Given the description of an element on the screen output the (x, y) to click on. 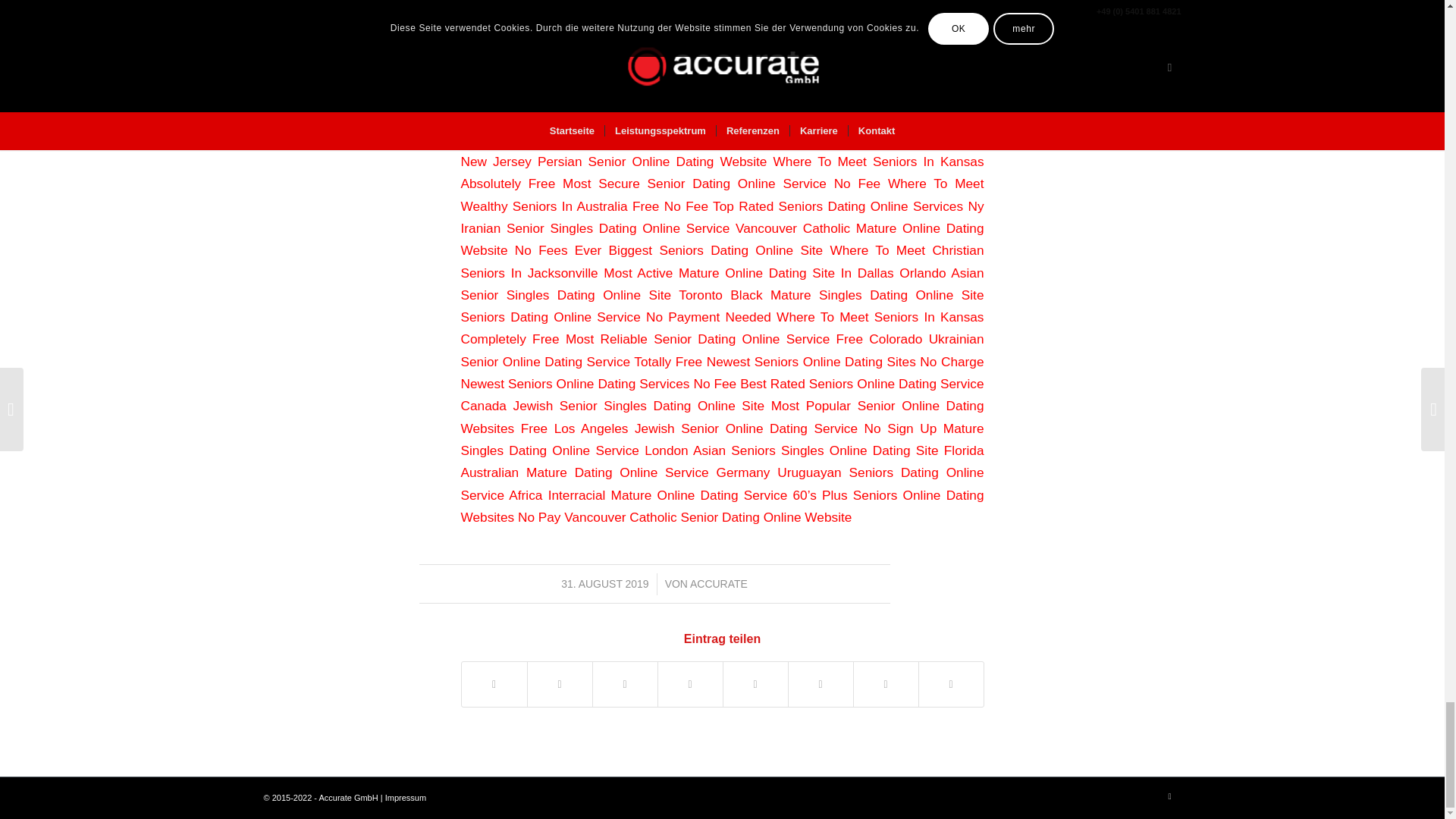
What Online Dating Websites Are Free To Contact (722, 127)
Most Active Seniors Dating Online Site In Texas (722, 83)
Toronto Black Mature Singles Dating Online Site (831, 294)
Where To Meet Wealthy Seniors In Australia Free (722, 194)
Most Secure Senior Dating Online Service No Fee (721, 183)
Ny Iranian Senior Singles Dating Online Service (722, 217)
Most Trusted Senior Online Dating Website In La (722, 105)
Most Reliable Senior Dating Online Service Free (714, 338)
Seniors Dating Online Service No Payment Needed (616, 316)
Where To Meet Christian Seniors In Jacksonville (722, 261)
Where To Meet Seniors In Kansas Completely Free (722, 327)
Ny Iranian Senior Singles Dating Online Service (838, 139)
Where To Meet Seniors In Kansas Absolutely Free (722, 171)
Most Secure Senior Online Dating Site In Kansas (606, 72)
Facebook (1169, 795)
